Given the description of an element on the screen output the (x, y) to click on. 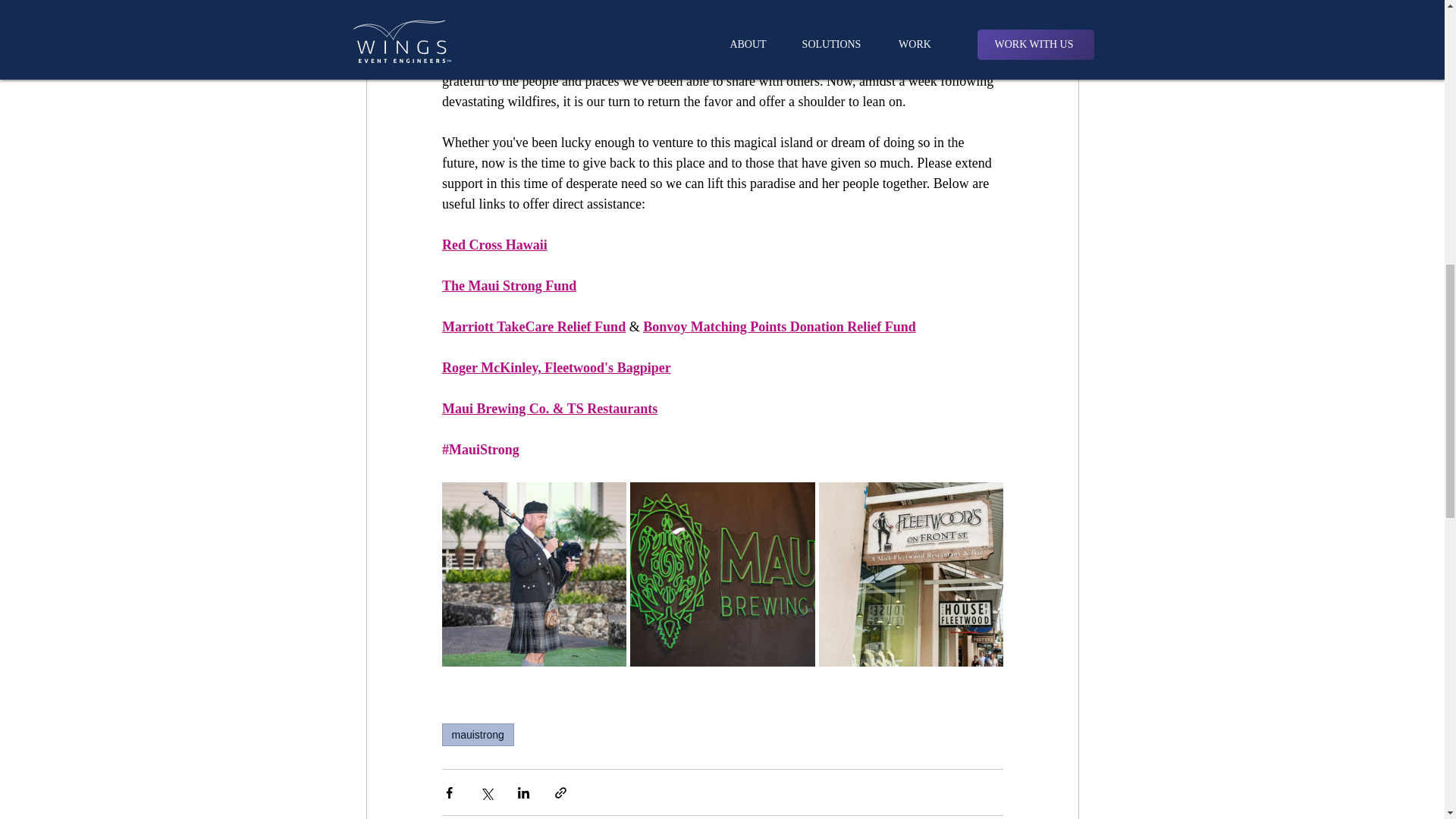
Marriott TakeCare Relief Fund (532, 326)
Roger McKinley, Fleetwood's Bagpiper (555, 367)
The Maui Strong Fund (508, 285)
Bonvoy Matching Points Donation Relief Fund (779, 326)
mauistrong (477, 734)
Red Cross Hawaii (494, 244)
